Given the description of an element on the screen output the (x, y) to click on. 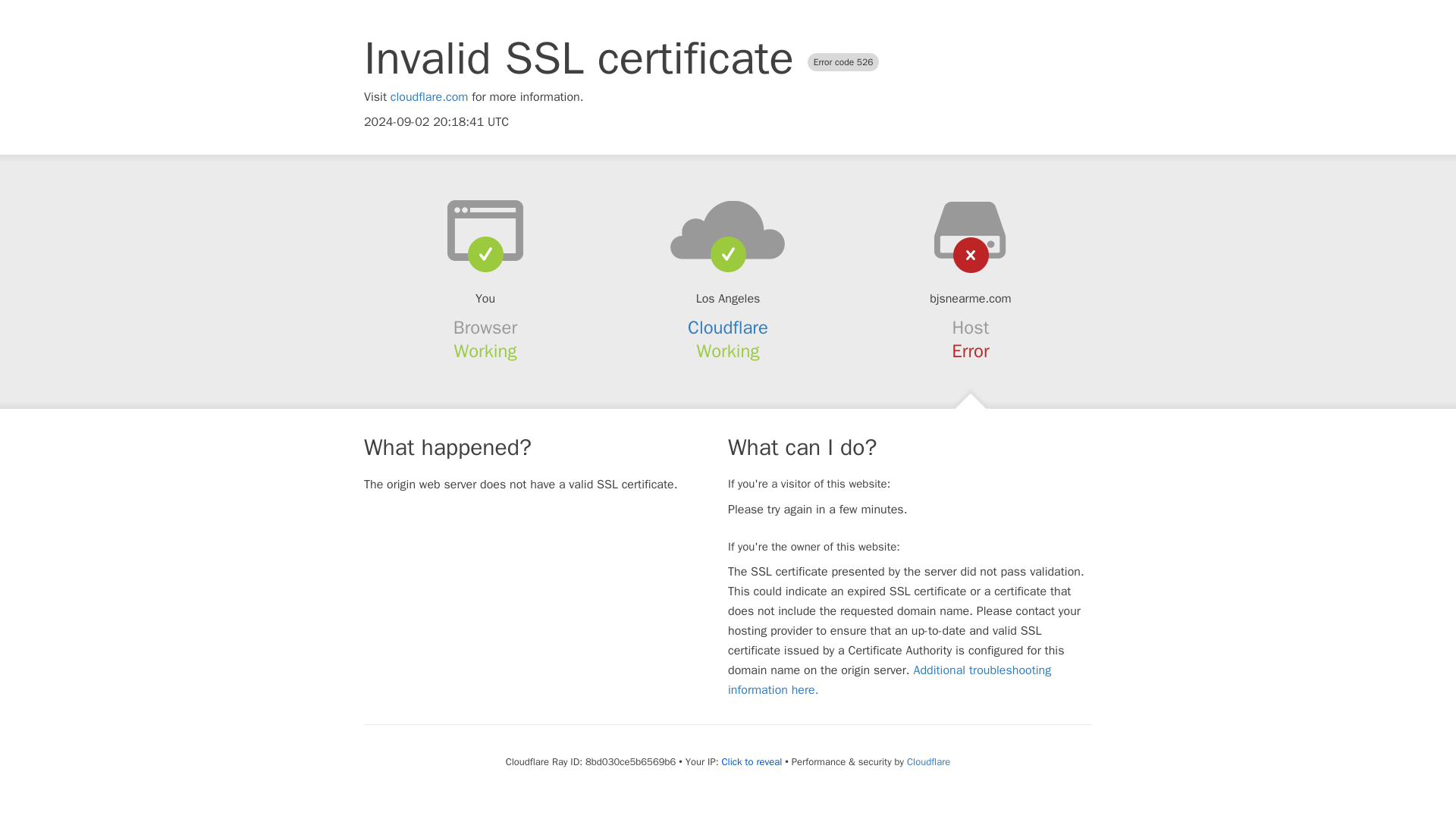
Click to reveal (750, 762)
Cloudflare (928, 761)
cloudflare.com (429, 96)
Cloudflare (727, 327)
Additional troubleshooting information here. (889, 679)
